Given the description of an element on the screen output the (x, y) to click on. 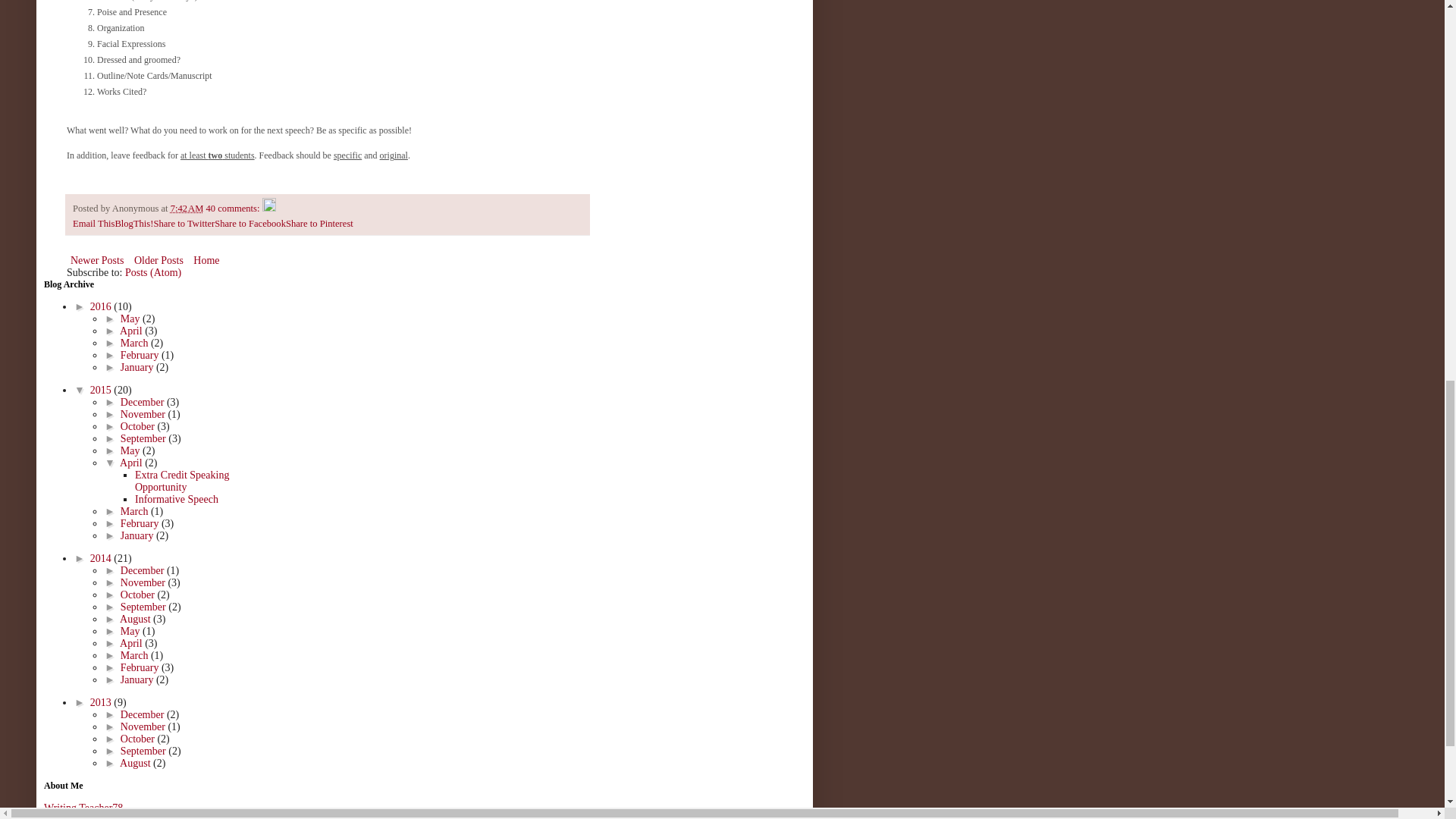
BlogThis! (133, 223)
Share to Pinterest (319, 223)
BlogThis! (133, 223)
Home (205, 260)
2016 (102, 306)
May (131, 318)
permanent link (186, 208)
January (137, 367)
Share to Twitter (183, 223)
Email This (93, 223)
